Given the description of an element on the screen output the (x, y) to click on. 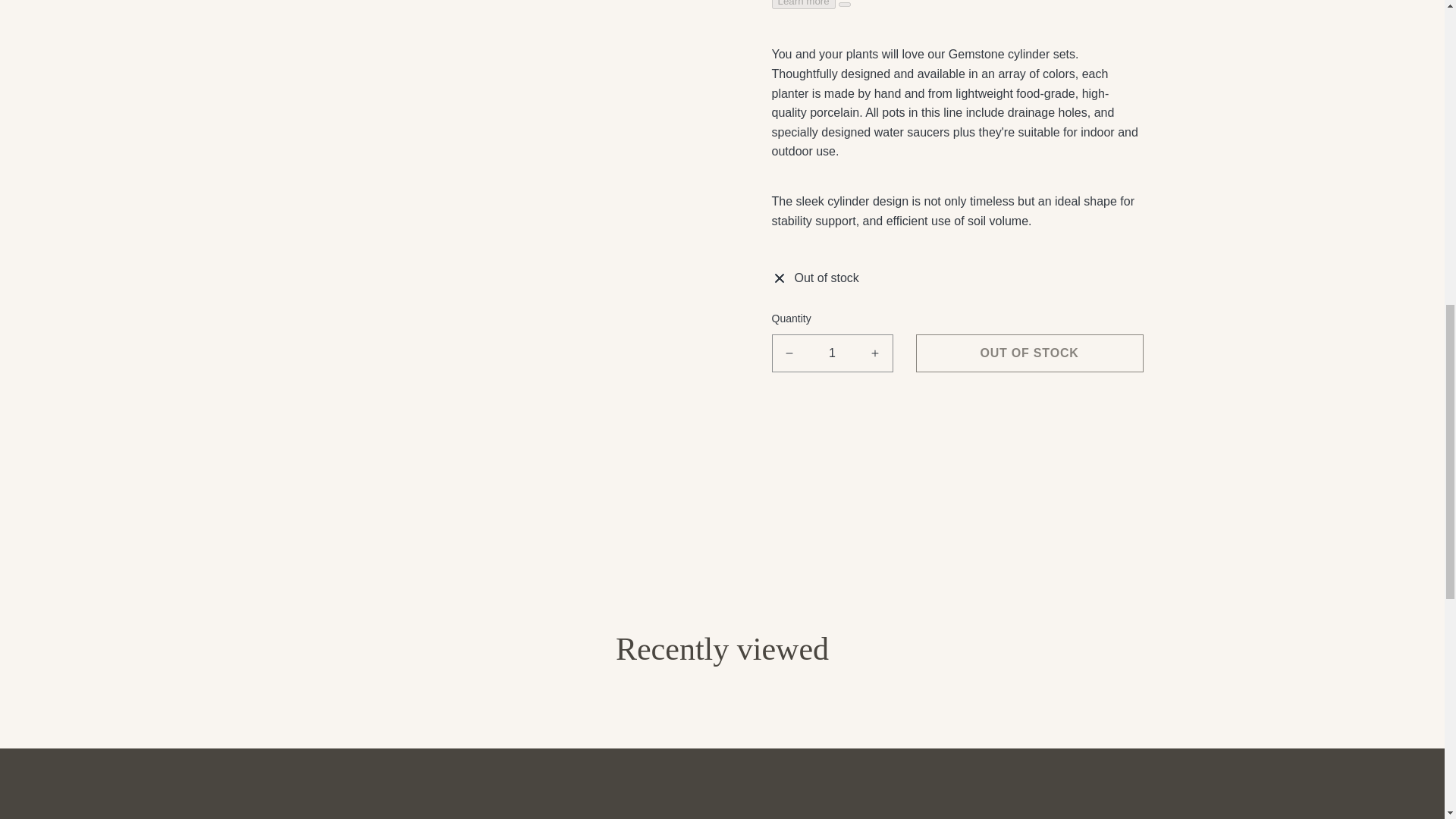
1 (831, 352)
